Given the description of an element on the screen output the (x, y) to click on. 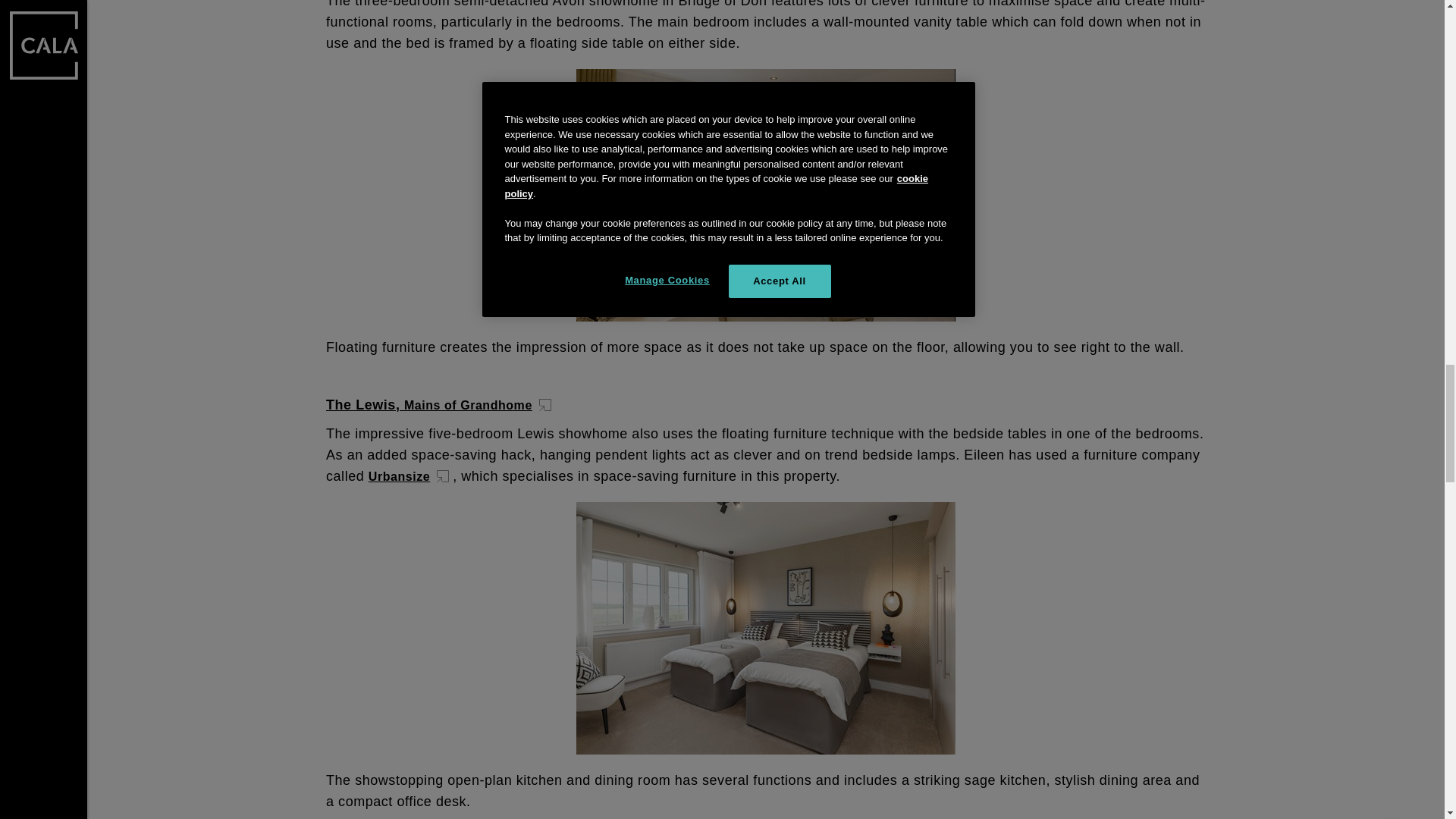
Mains of Grandhome (479, 405)
Urbansize (410, 476)
